Given the description of an element on the screen output the (x, y) to click on. 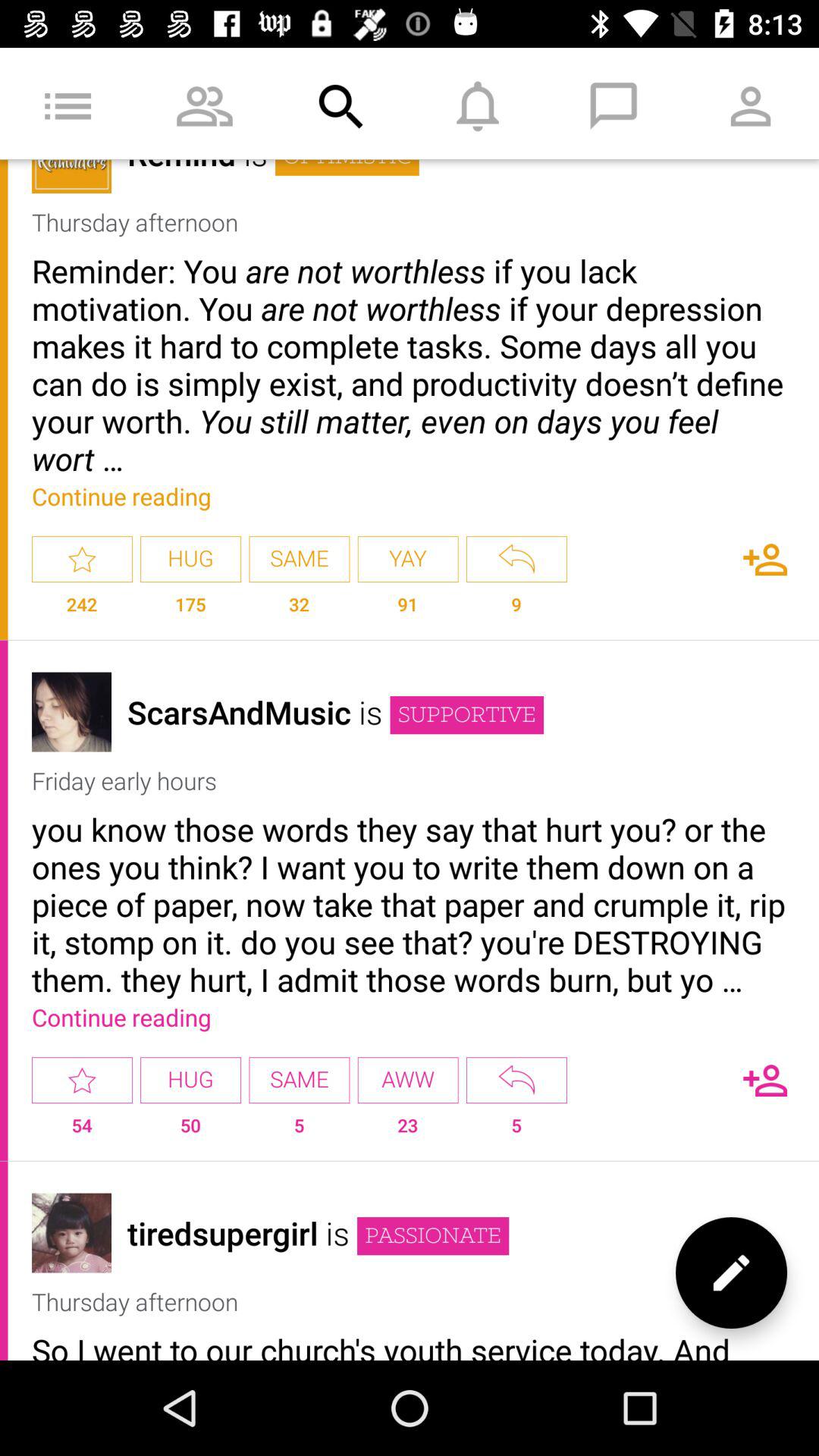
click to edit (731, 1272)
